Given the description of an element on the screen output the (x, y) to click on. 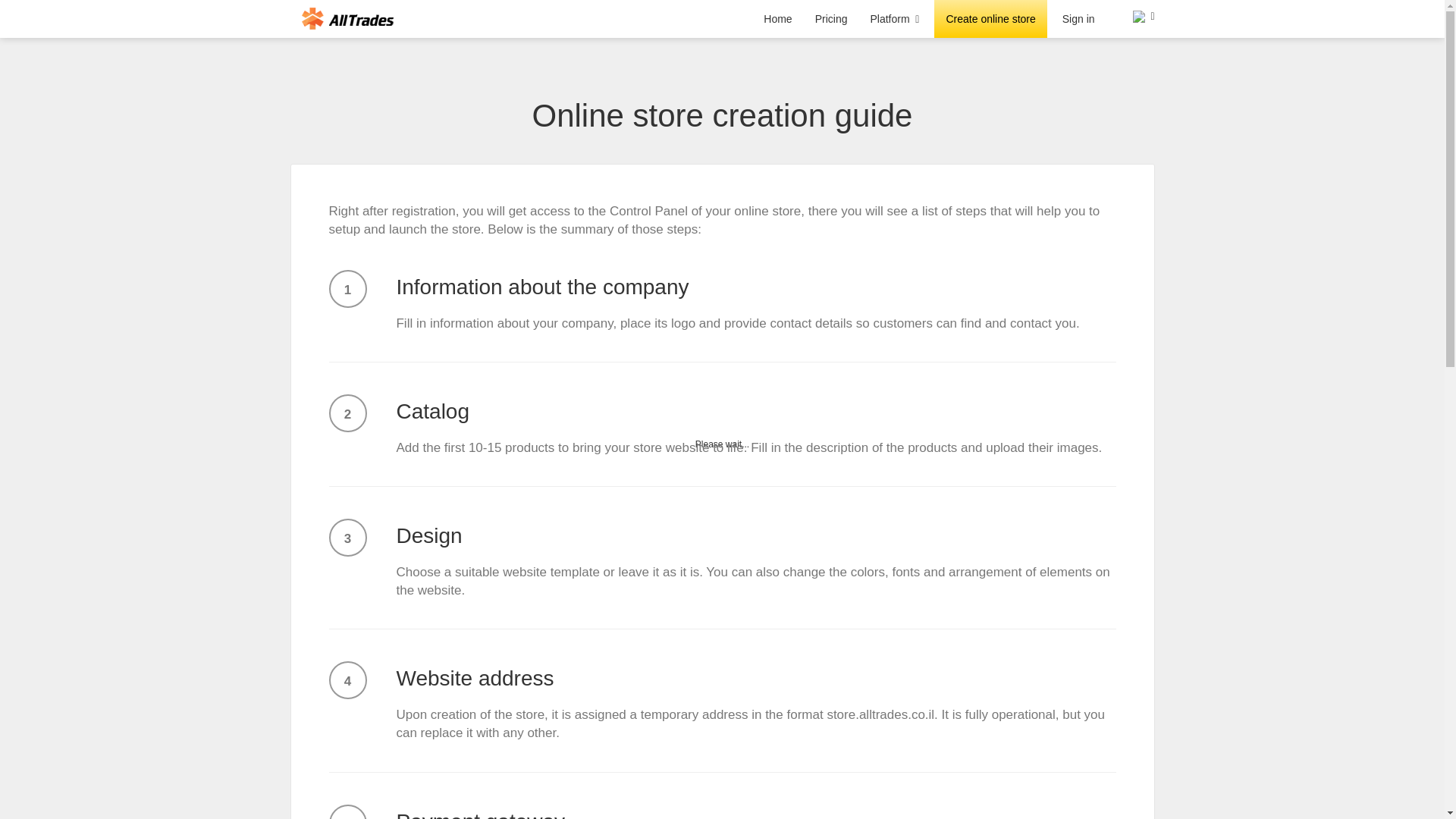
Platform   (894, 18)
Create online store (990, 18)
Pricing (831, 18)
Sign in (1078, 18)
Home (777, 18)
